Given the description of an element on the screen output the (x, y) to click on. 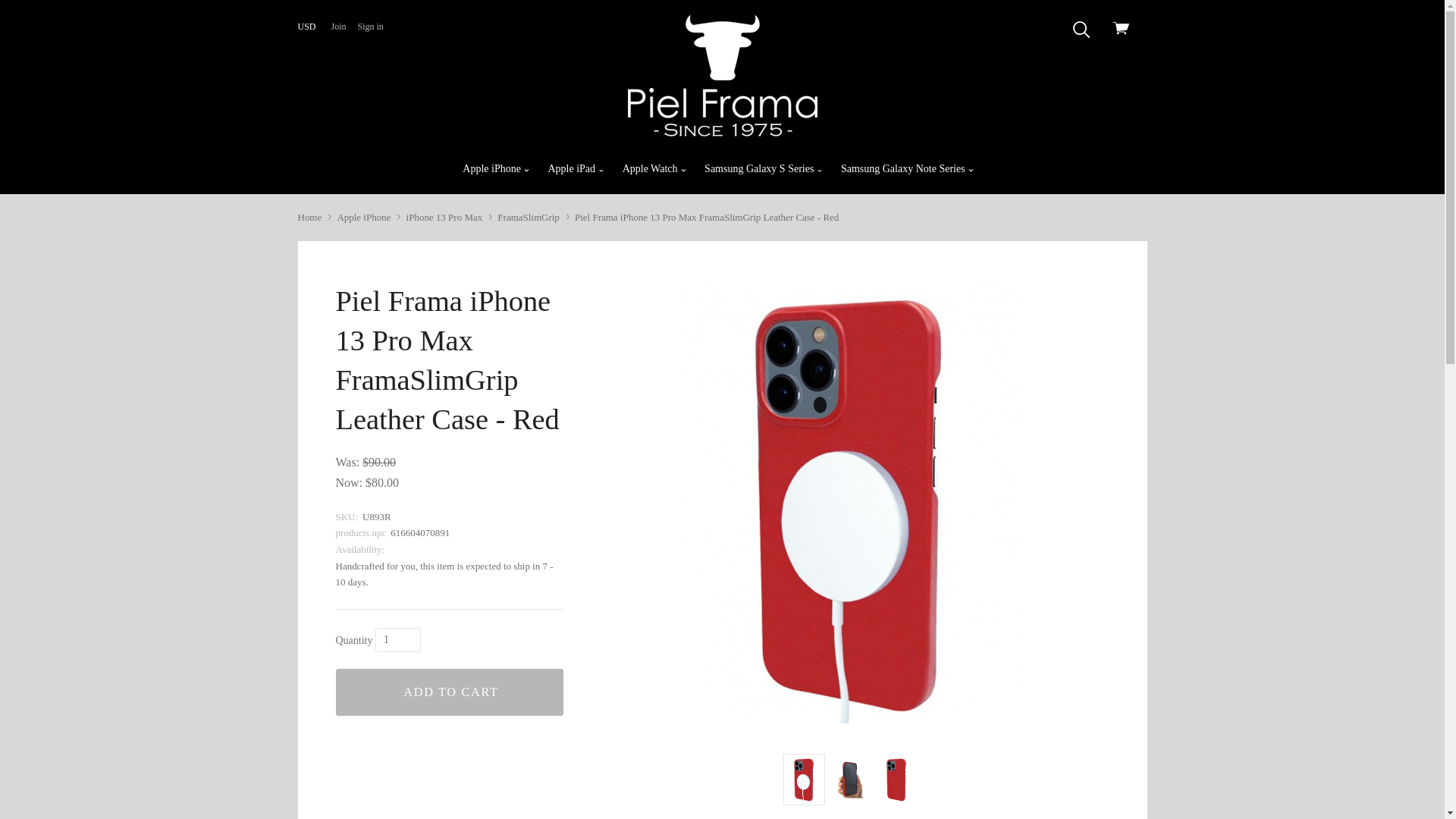
View cart (1123, 30)
Apple iPhone (495, 168)
View cart (1123, 30)
1 (397, 639)
Join (338, 27)
Sign in (369, 27)
Apple iPad (576, 168)
